Given the description of an element on the screen output the (x, y) to click on. 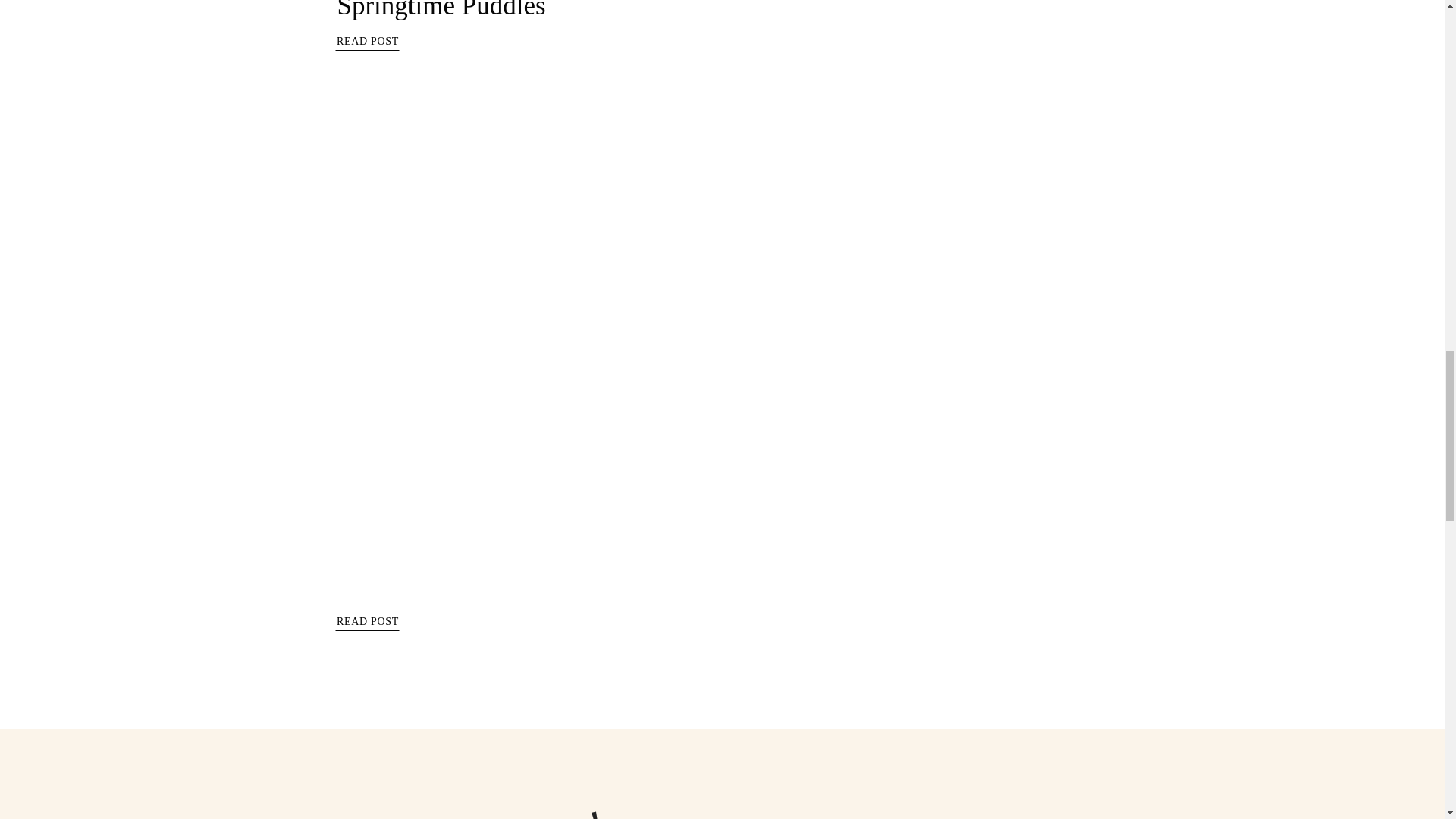
Adventures of Jubilee: Springtime Puddles (456, 10)
Adventures of Jubilee: Springtime Puddles (366, 43)
READ POST (366, 623)
READ POST (366, 43)
